Given the description of an element on the screen output the (x, y) to click on. 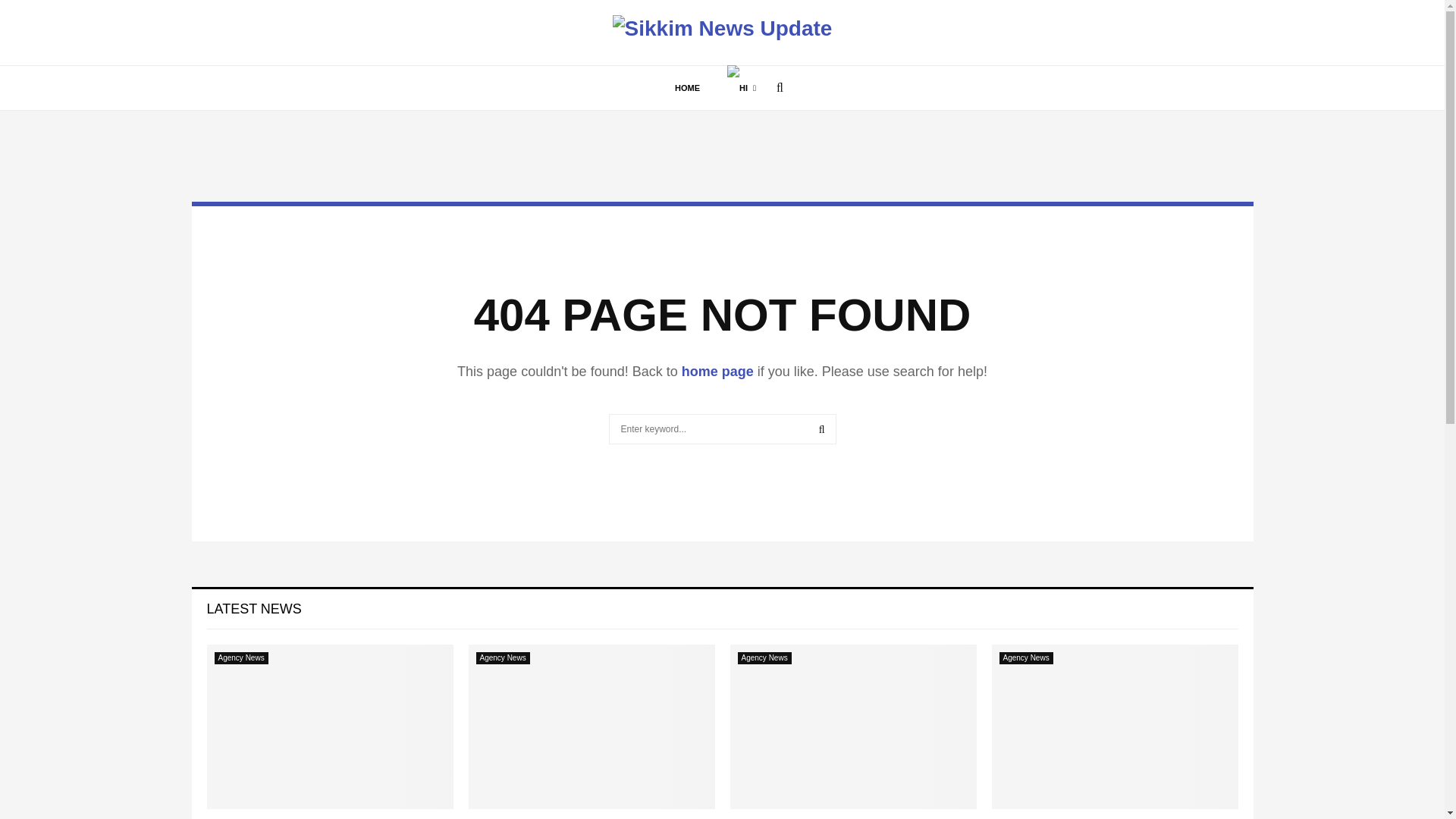
home page (717, 371)
Agency News (502, 657)
LATEST NEWS (253, 608)
Agency News (240, 657)
View all posts in Agency News (1025, 657)
View all posts in Agency News (502, 657)
Agency News (1025, 657)
View all posts in Agency News (240, 657)
HOME (687, 87)
